Given the description of an element on the screen output the (x, y) to click on. 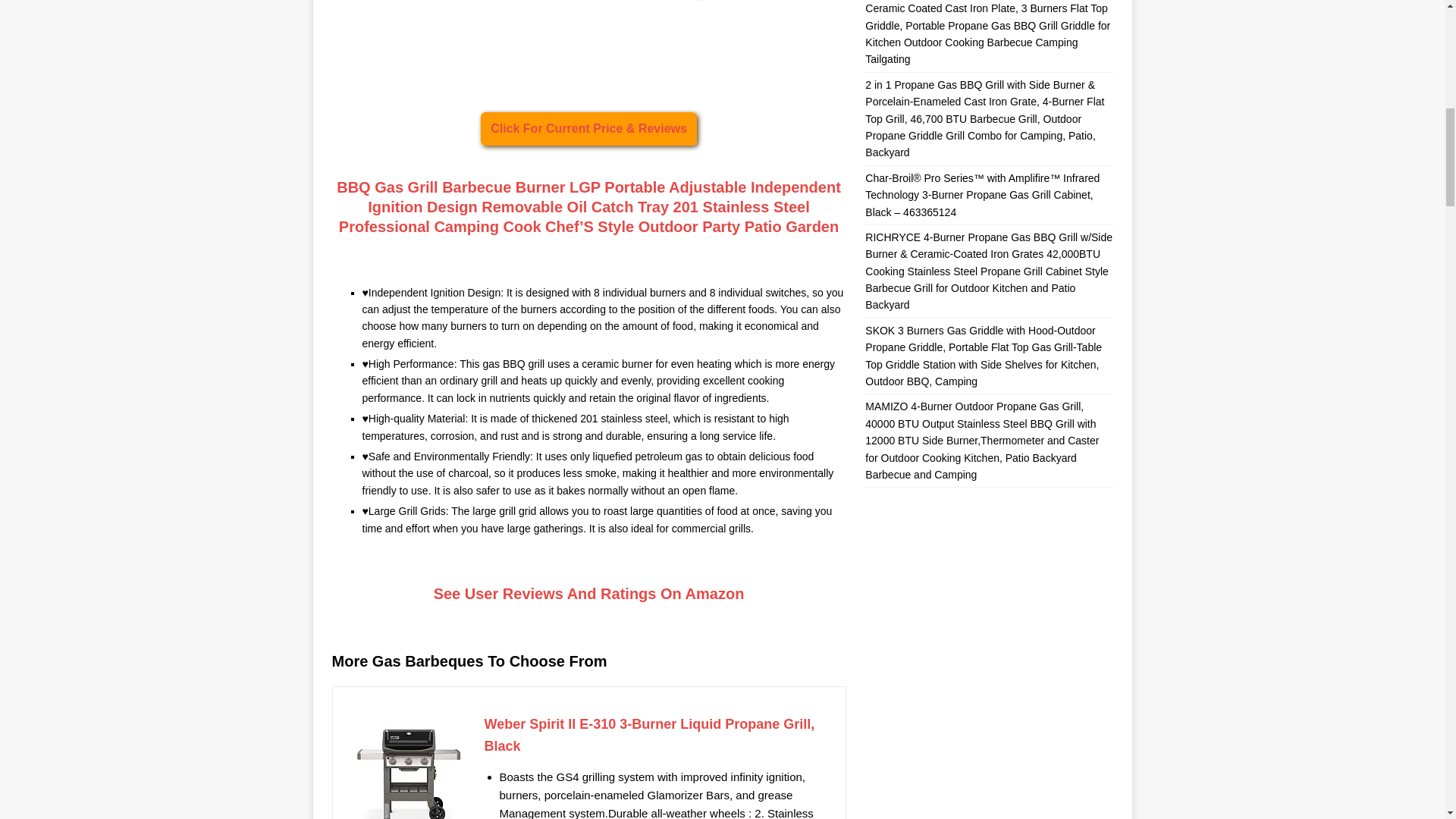
Grills Propane  Gas Grills (588, 39)
Weber Spirit II E-310 3-Burner Liquid Propane Grill, Black (656, 735)
Weber Spirit II E-310 3-Burner Liquid Propane Grill, Black (407, 766)
